Given the description of an element on the screen output the (x, y) to click on. 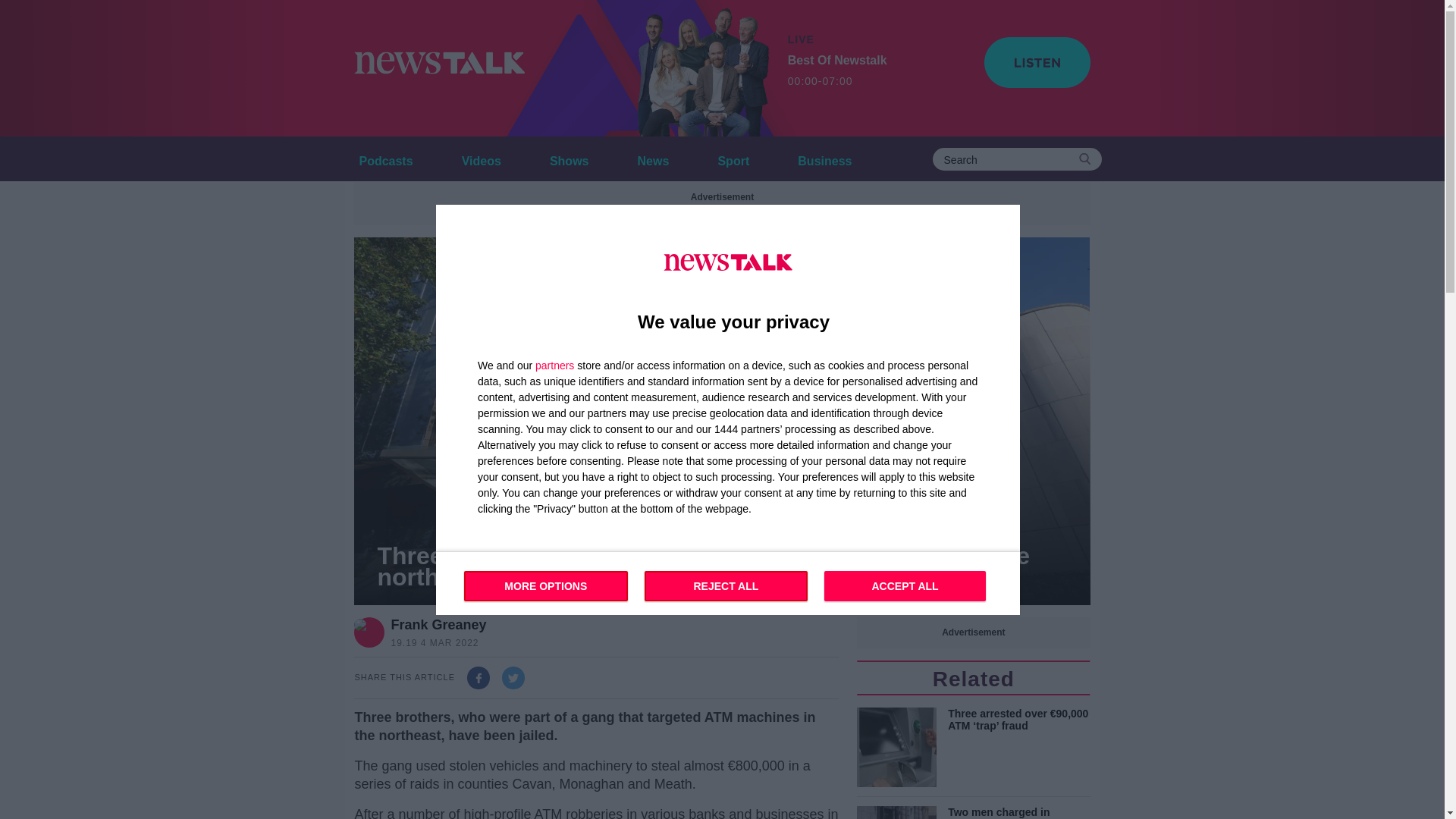
Sport (733, 158)
Videos (481, 158)
MORE OPTIONS (545, 585)
Frank Greaney (438, 624)
Shows (569, 158)
Shows (836, 70)
Business (569, 158)
partners (824, 158)
Sport (554, 364)
Videos (733, 158)
Best Of Newstalk (481, 158)
ACCEPT ALL (701, 68)
